Given the description of an element on the screen output the (x, y) to click on. 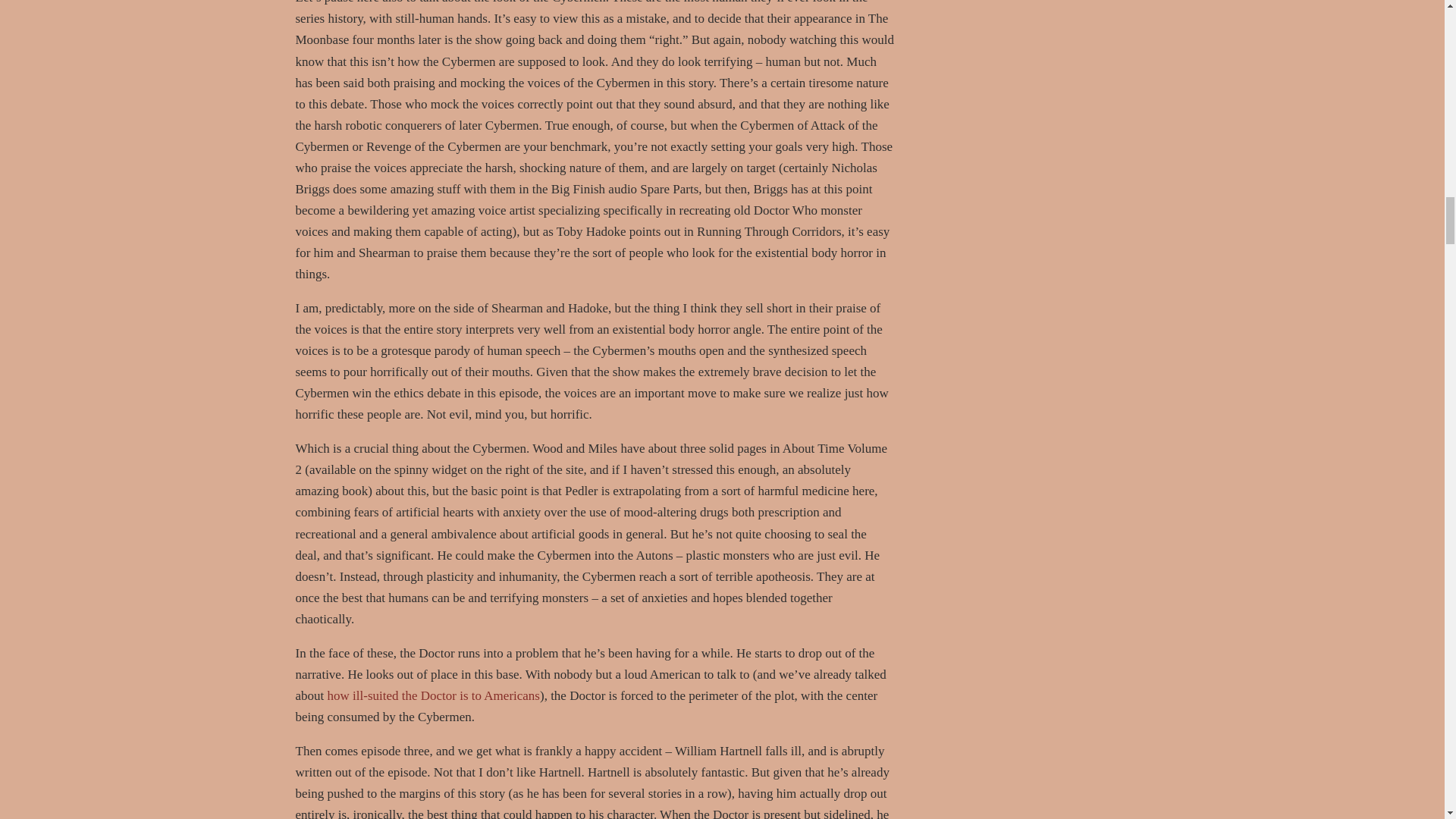
how ill-suited the Doctor is to Americans (433, 695)
